Given the description of an element on the screen output the (x, y) to click on. 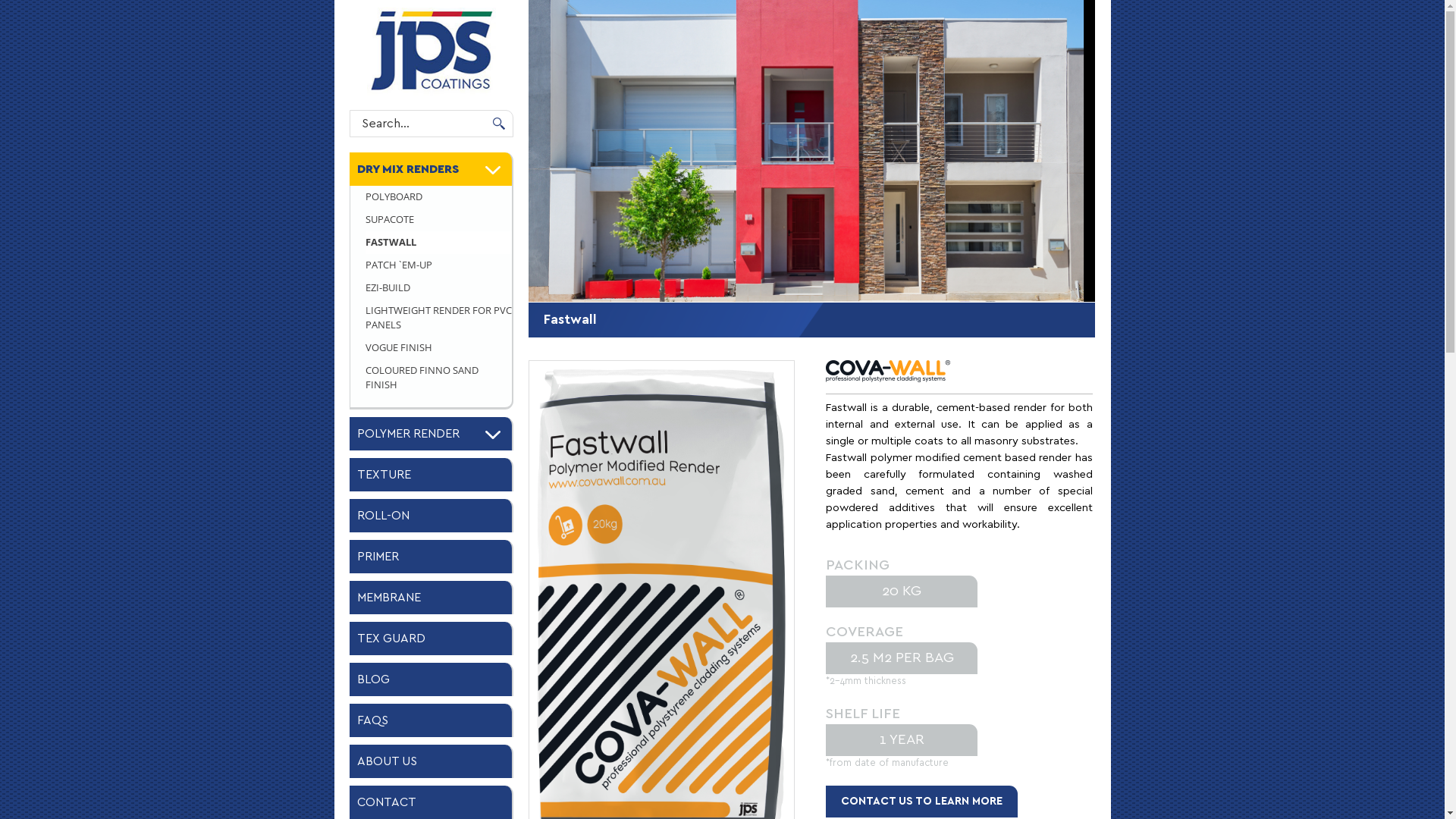
FASTWALL Element type: text (438, 242)
PATCH `EM-UP Element type: text (438, 265)
POLYBOARD Element type: text (438, 196)
CONTACT US TO LEARN MORE Element type: text (921, 801)
BLOG Element type: text (431, 679)
DRY MIX RENDERS Element type: text (431, 168)
POLYMER RENDER Element type: text (431, 433)
COLOURED FINNO SAND FINISH Element type: text (438, 377)
ABOUT US Element type: text (431, 761)
EZI-BUILD Element type: text (438, 287)
MEMBRANE Element type: text (431, 597)
ROLL-ON Element type: text (431, 515)
LIGHTWEIGHT RENDER FOR PVC PANELS Element type: text (438, 317)
TEXTURE Element type: text (431, 474)
SUPACOTE Element type: text (438, 219)
PRIMER Element type: text (431, 556)
VOGUE FINISH Element type: text (438, 347)
TEX GUARD Element type: text (431, 638)
FAQS Element type: text (431, 720)
